Given the description of an element on the screen output the (x, y) to click on. 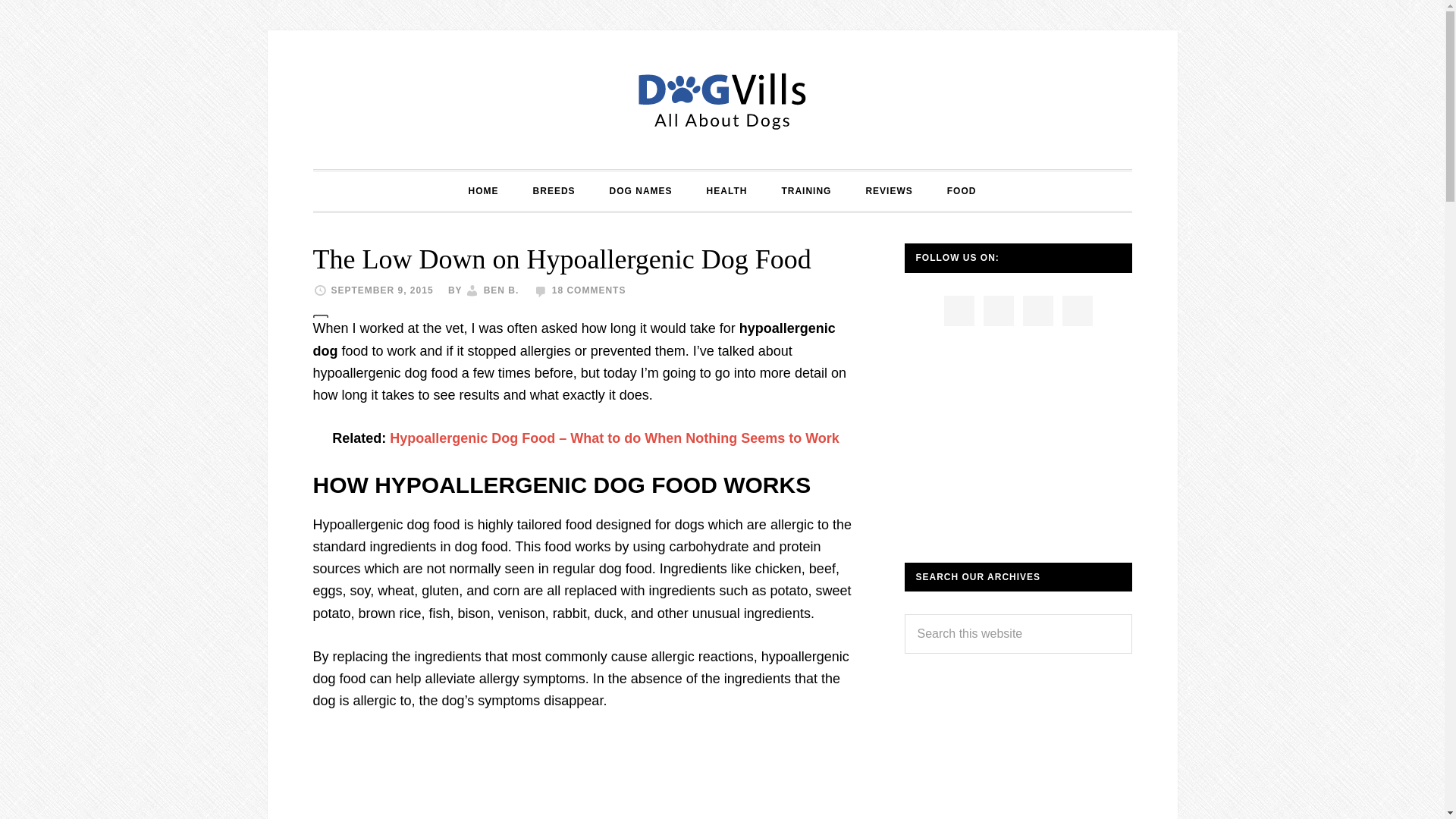
BREEDS (554, 190)
HOME (482, 190)
HEALTH (726, 190)
18 COMMENTS (588, 290)
DOG NAMES (640, 190)
REVIEWS (888, 190)
FOOD (961, 190)
BEN B. (501, 290)
